Given the description of an element on the screen output the (x, y) to click on. 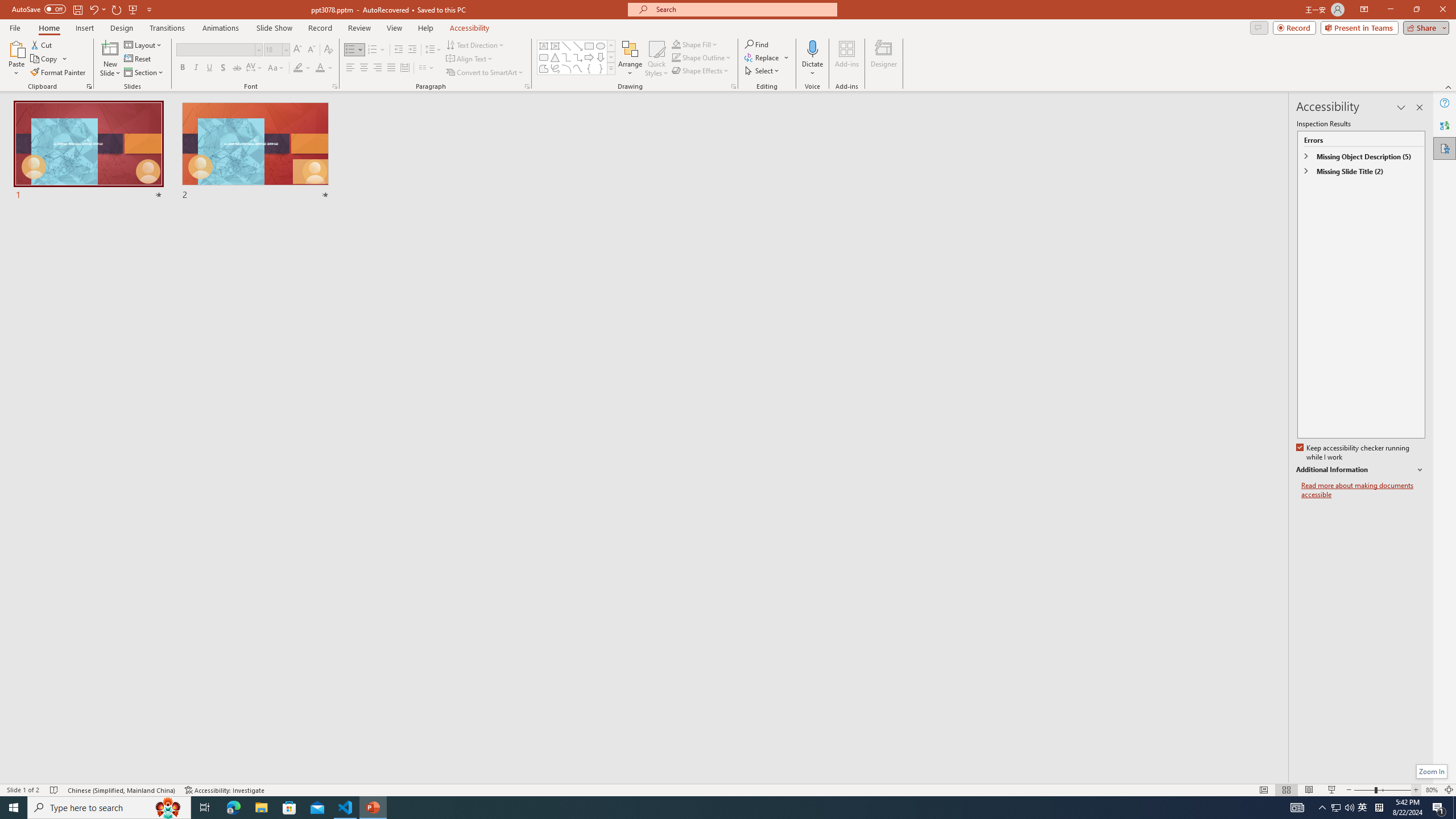
Keep accessibility checker running while I work (1353, 452)
